Given the description of an element on the screen output the (x, y) to click on. 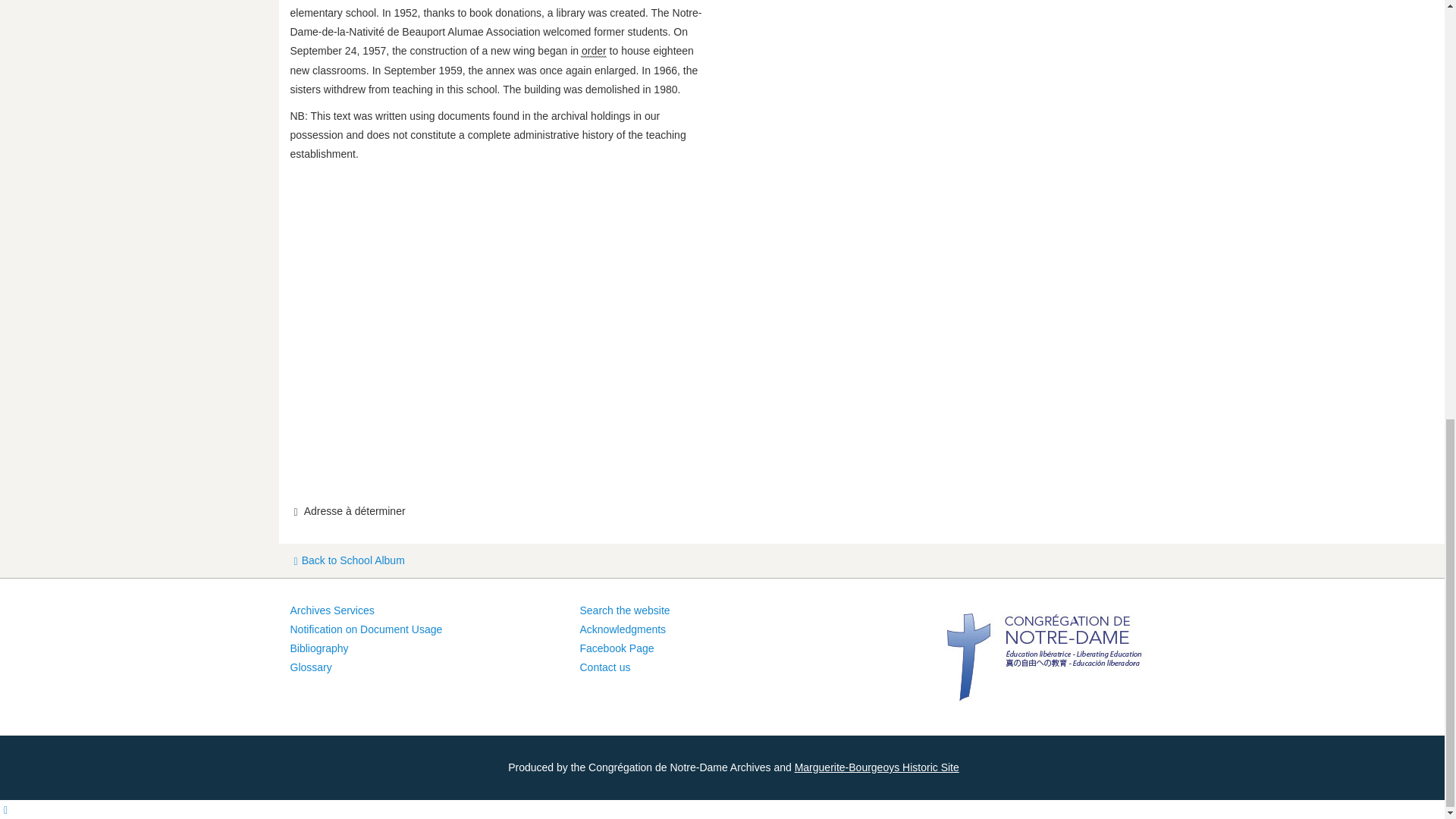
Bibliography (318, 648)
Acknowledgments (622, 629)
Notification on Document Usage (365, 629)
Visitez notre page Facebook (616, 648)
Contact us (604, 667)
Marguerite-Bourgeoys Historic Site (876, 767)
Pour nous adresser une demande (604, 667)
Facebook Page (616, 648)
Search the website (624, 610)
